Given the description of an element on the screen output the (x, y) to click on. 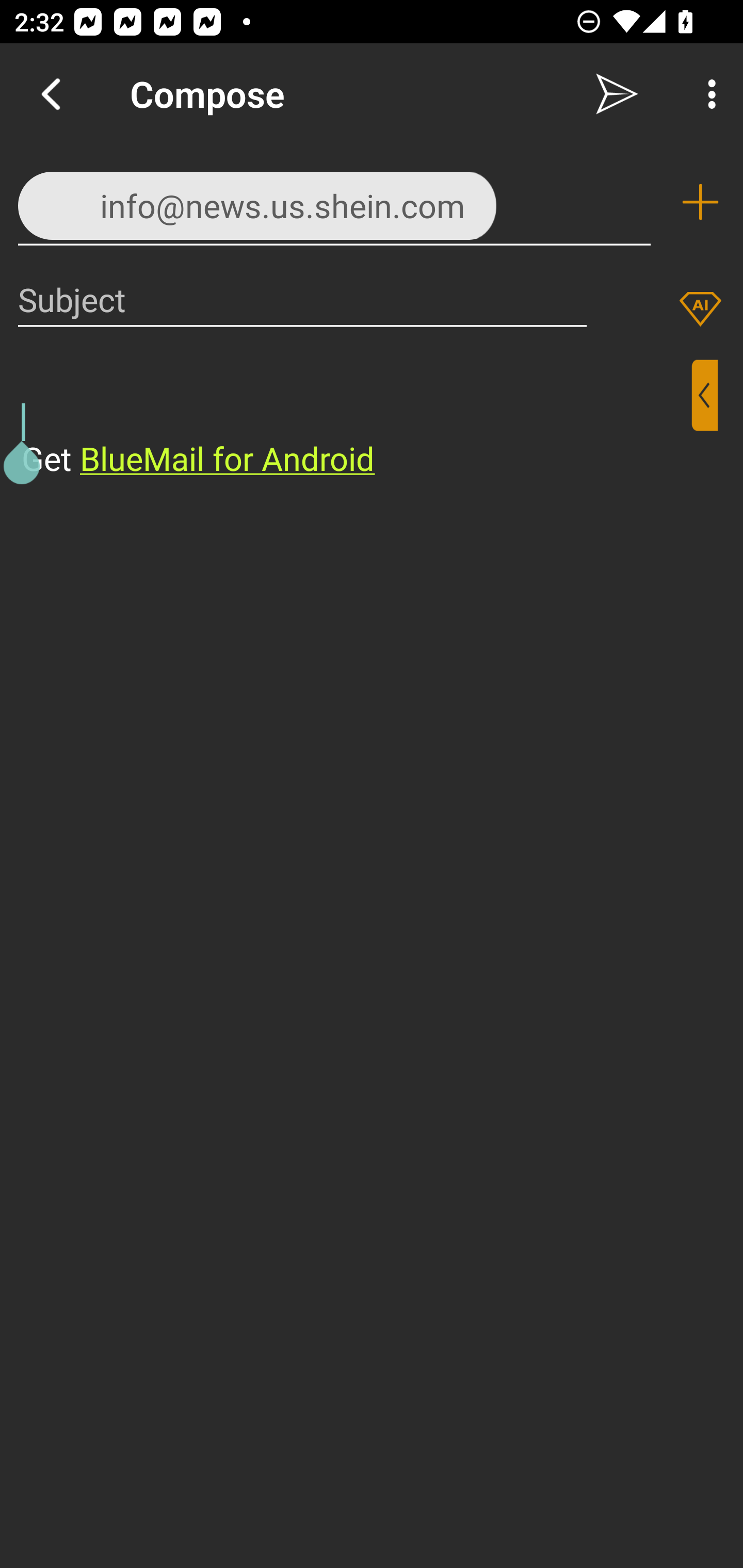
Navigate up (50, 93)
Send (616, 93)
More Options (706, 93)
<info@news.us.shein.com>,  (334, 201)
Add recipient (To) (699, 201)
Subject (302, 299)


⁣Get BlueMail for Android ​ (355, 419)
